Given the description of an element on the screen output the (x, y) to click on. 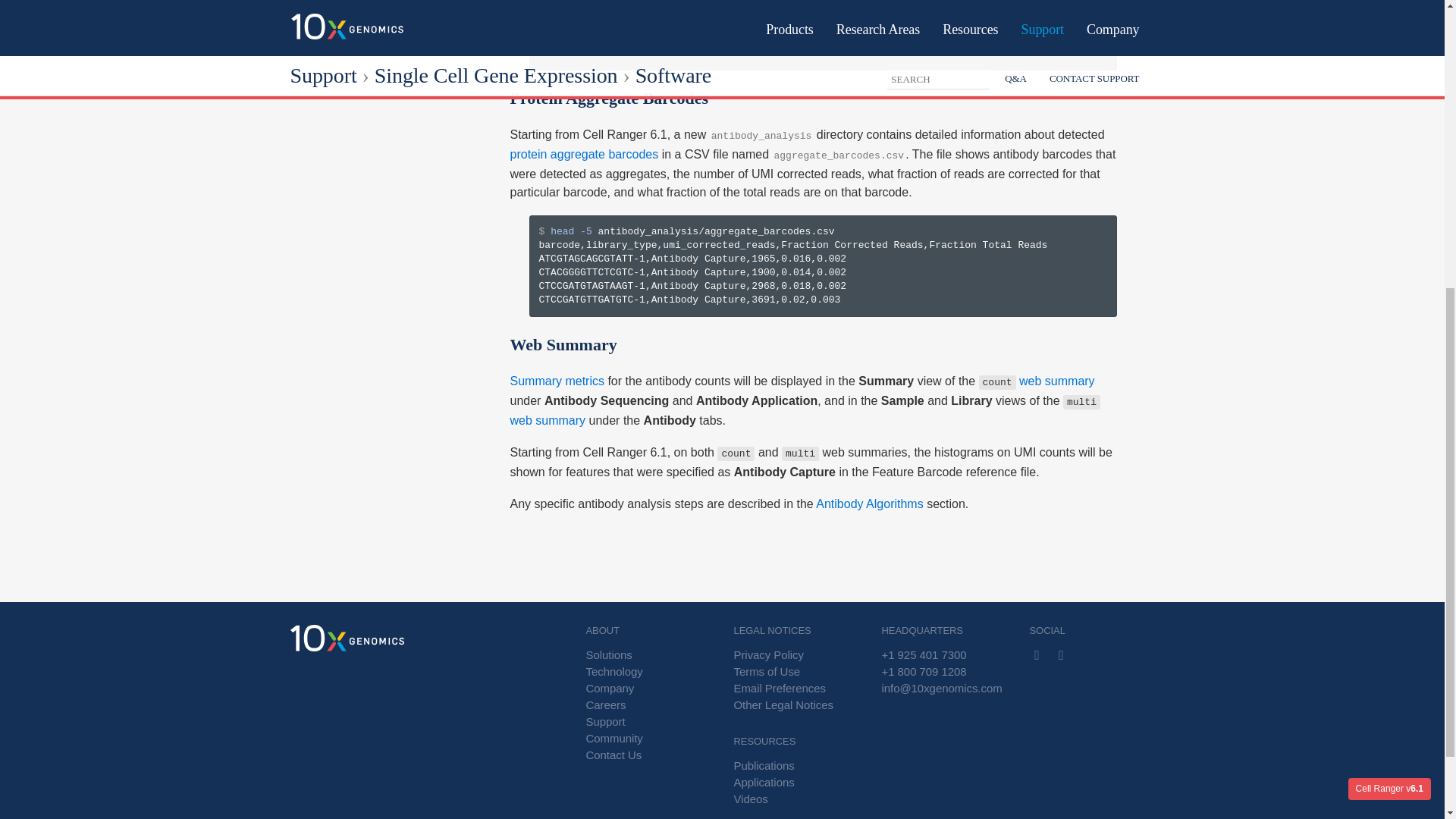
 linkedIn (1061, 654)
 Twitter (1036, 654)
